Given the description of an element on the screen output the (x, y) to click on. 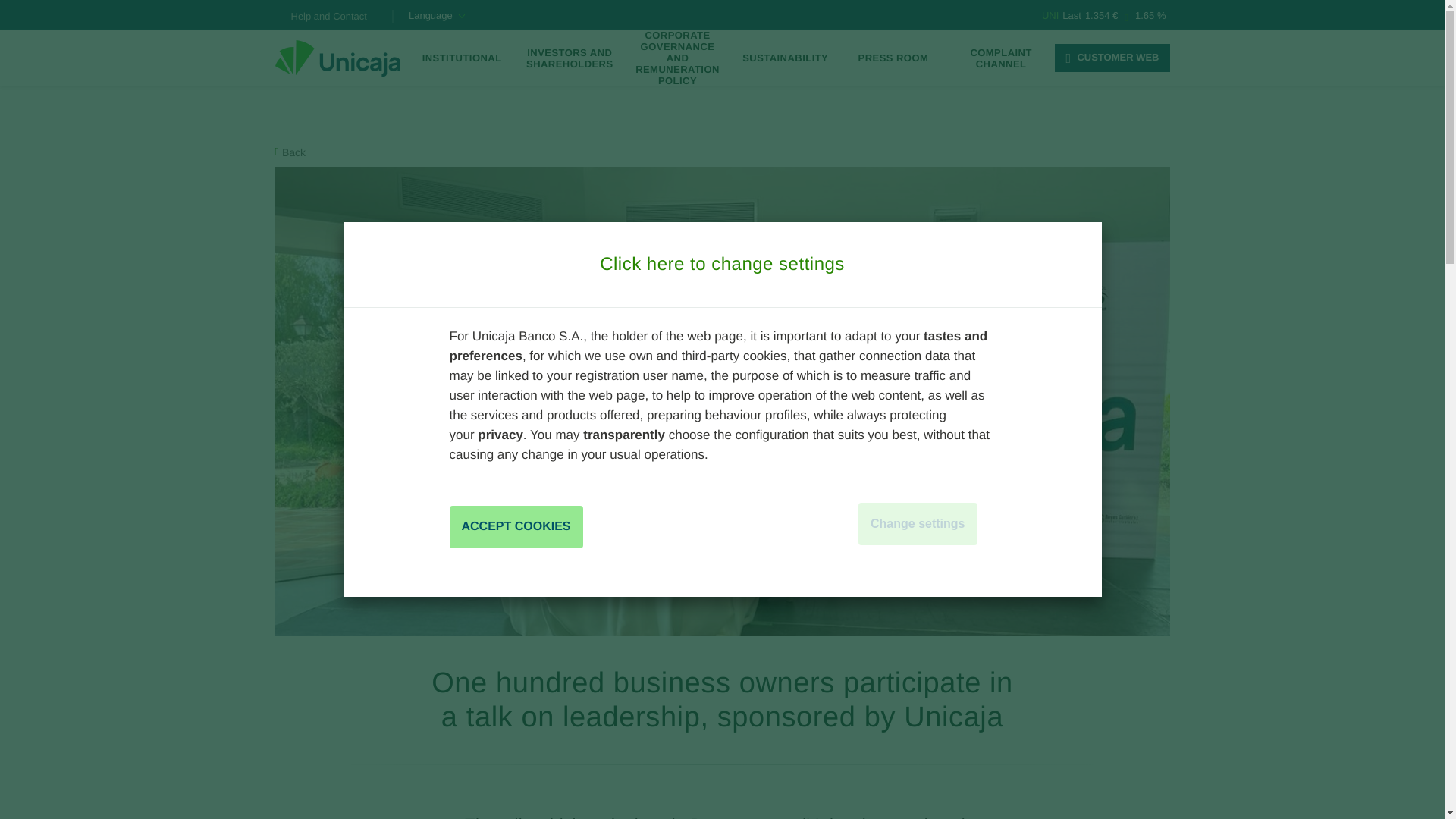
Language (437, 15)
INVESTORS AND SHAREHOLDERS (569, 57)
INSTITUTIONAL (461, 57)
Help and Contact (328, 16)
' Back ' (290, 152)
